Given the description of an element on the screen output the (x, y) to click on. 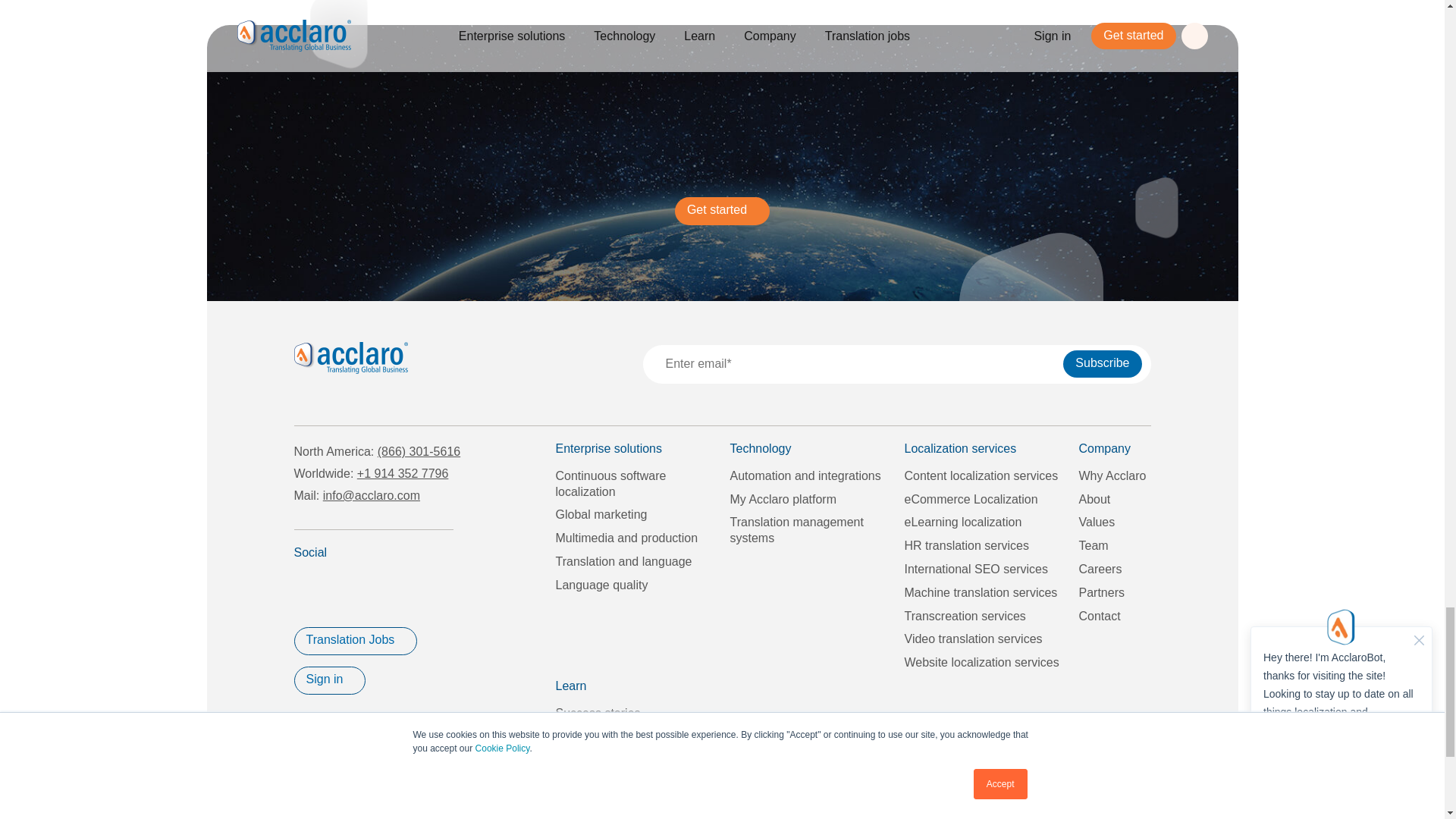
Subscribe (1101, 363)
